Given the description of an element on the screen output the (x, y) to click on. 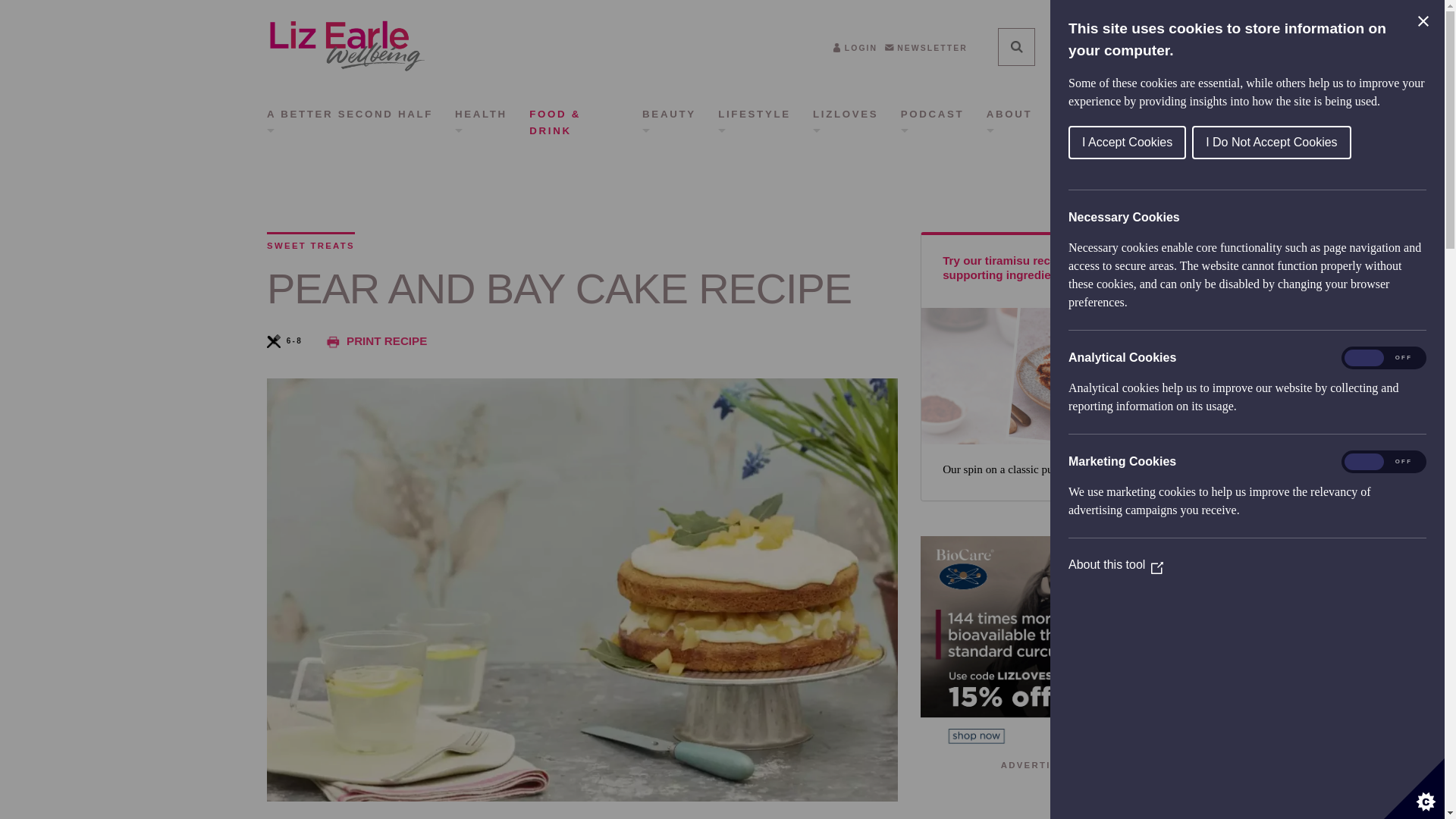
I Accept Cookies (1293, 142)
LIZLOVES (844, 122)
BUY LIZ'S BOOK (1115, 109)
HEALTH (480, 122)
Login (854, 48)
PODCAST (932, 122)
LOGIN (854, 48)
LIFESTYLE (753, 122)
BEAUTY (668, 122)
Search (1016, 46)
A BETTER SECOND HALF (349, 122)
Newsletter (926, 48)
NEWSLETTER (926, 48)
ABOUT (1009, 122)
